Given the description of an element on the screen output the (x, y) to click on. 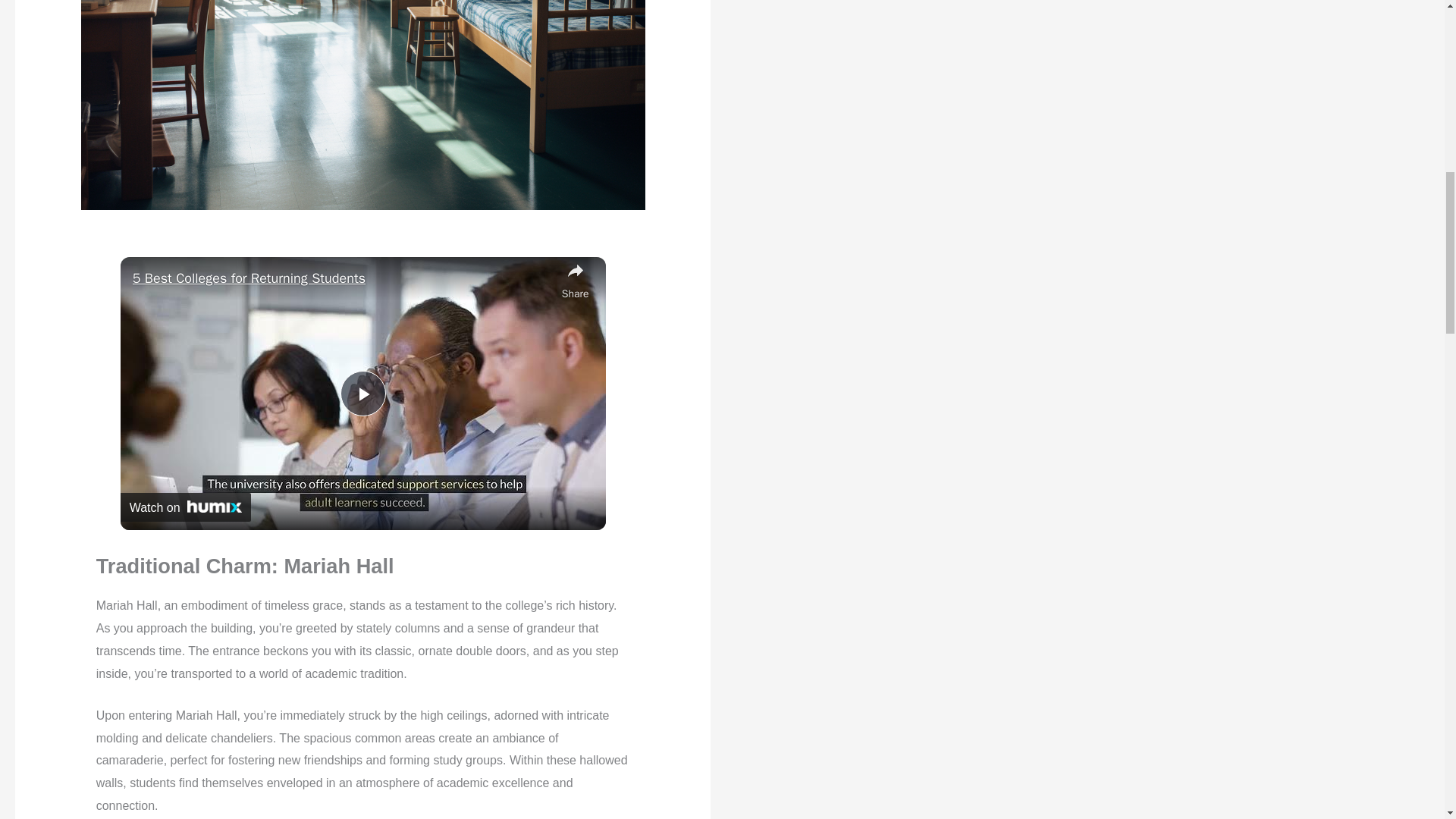
Play Video (362, 393)
